Given the description of an element on the screen output the (x, y) to click on. 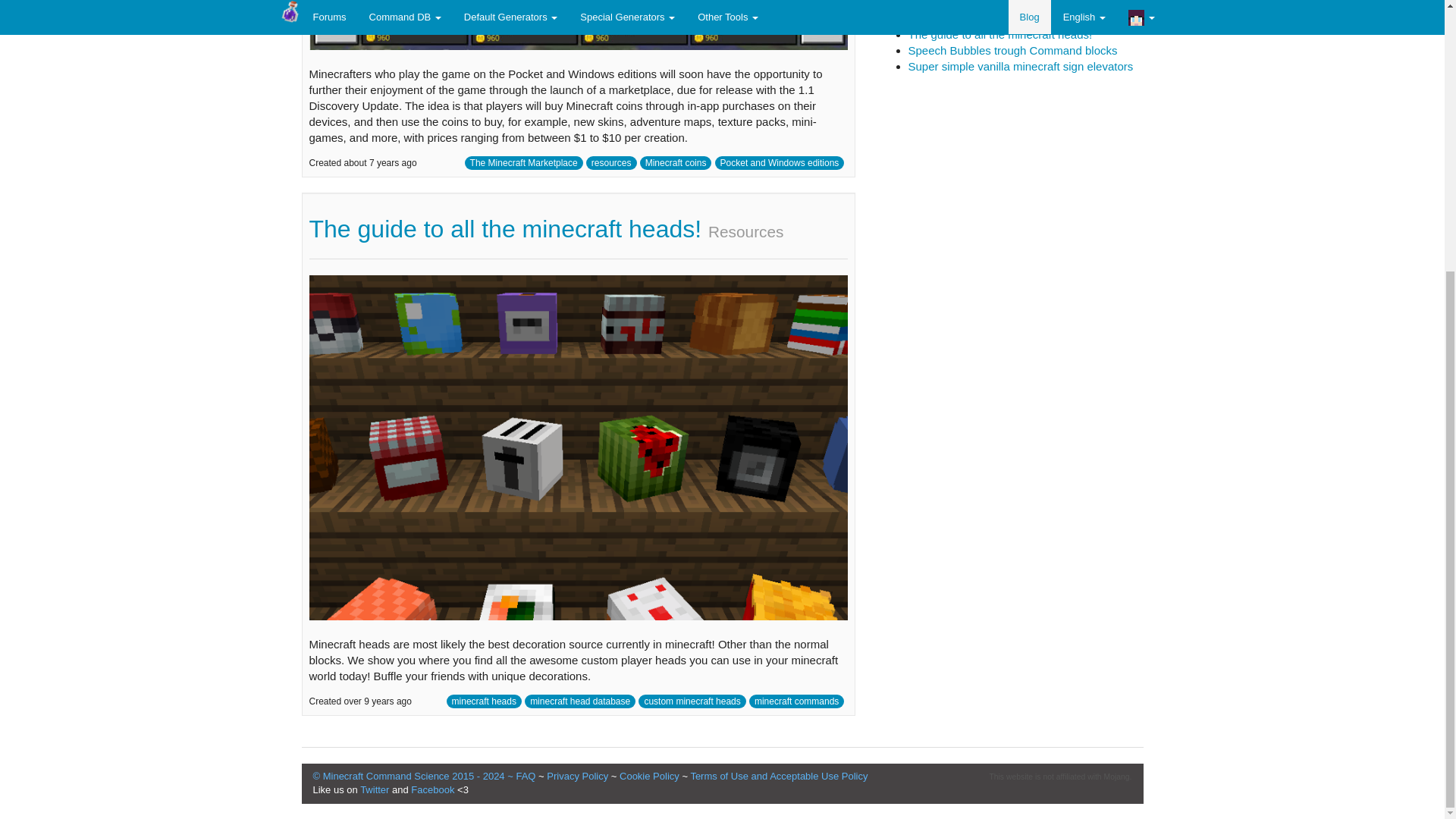
Pocket and Windows editions (779, 162)
The guide to all the minecraft heads! Resources (546, 228)
minecraft head database (579, 701)
minecraft heads (483, 701)
resources (611, 162)
The Minecraft Marketplace (523, 162)
Minecraft coins (675, 162)
custom minecraft heads (692, 701)
